Given the description of an element on the screen output the (x, y) to click on. 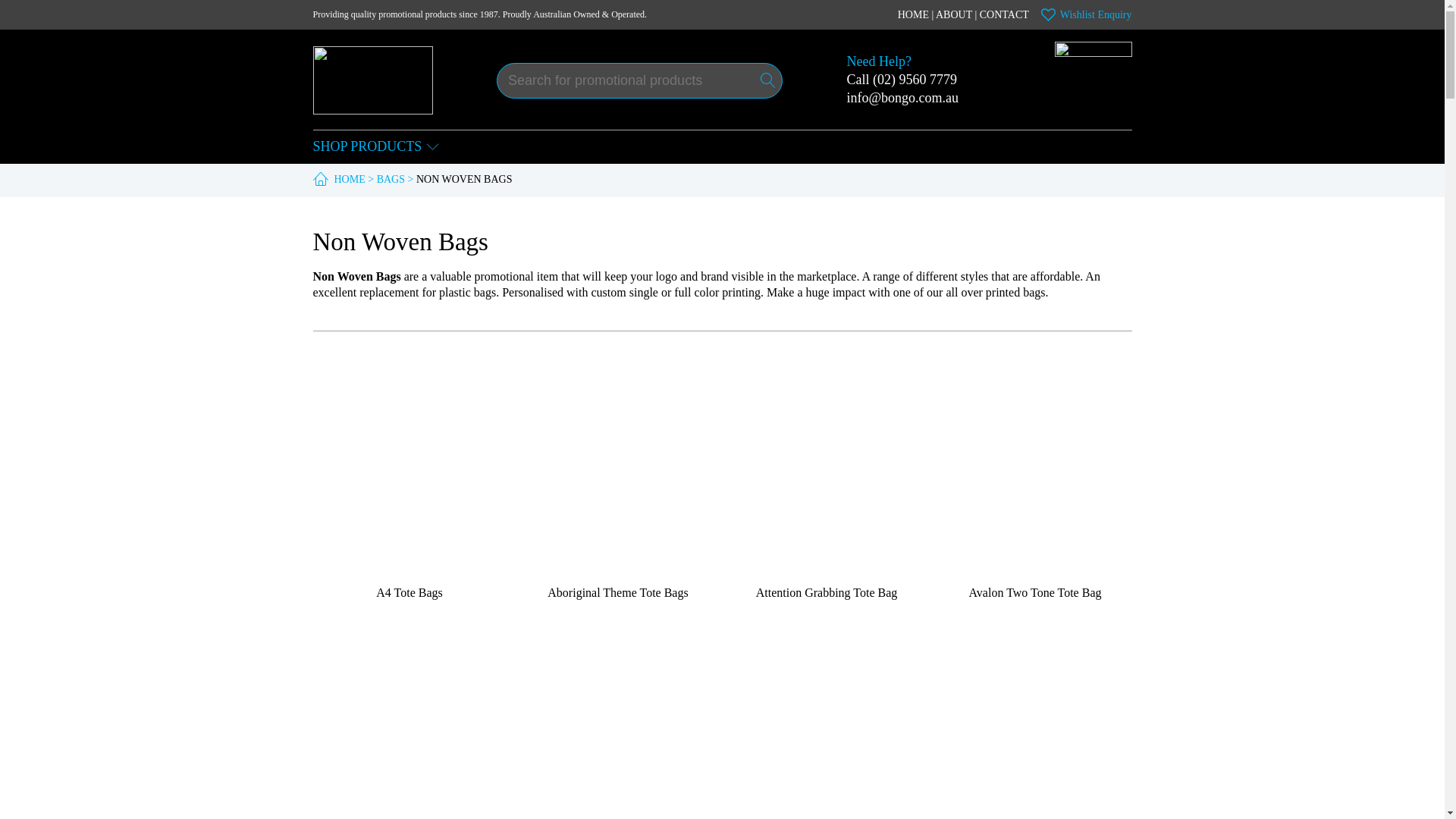
SHOP PRODUCTS (376, 147)
Search for: (639, 79)
HOME (913, 14)
ABOUT (954, 14)
CONTACT (1004, 14)
Wishlist Enquiry (1086, 14)
